Given the description of an element on the screen output the (x, y) to click on. 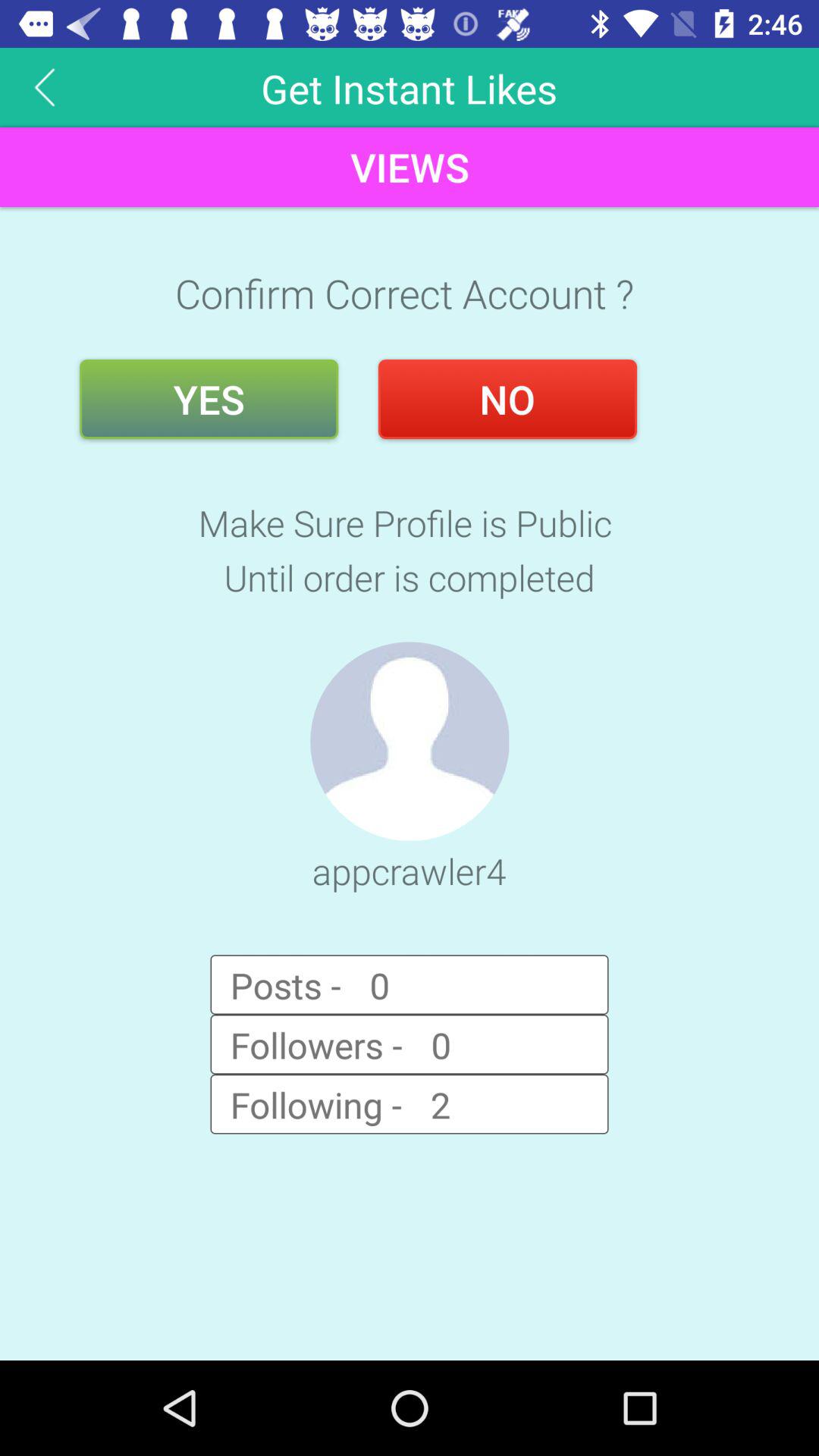
choose button above views (44, 87)
